Given the description of an element on the screen output the (x, y) to click on. 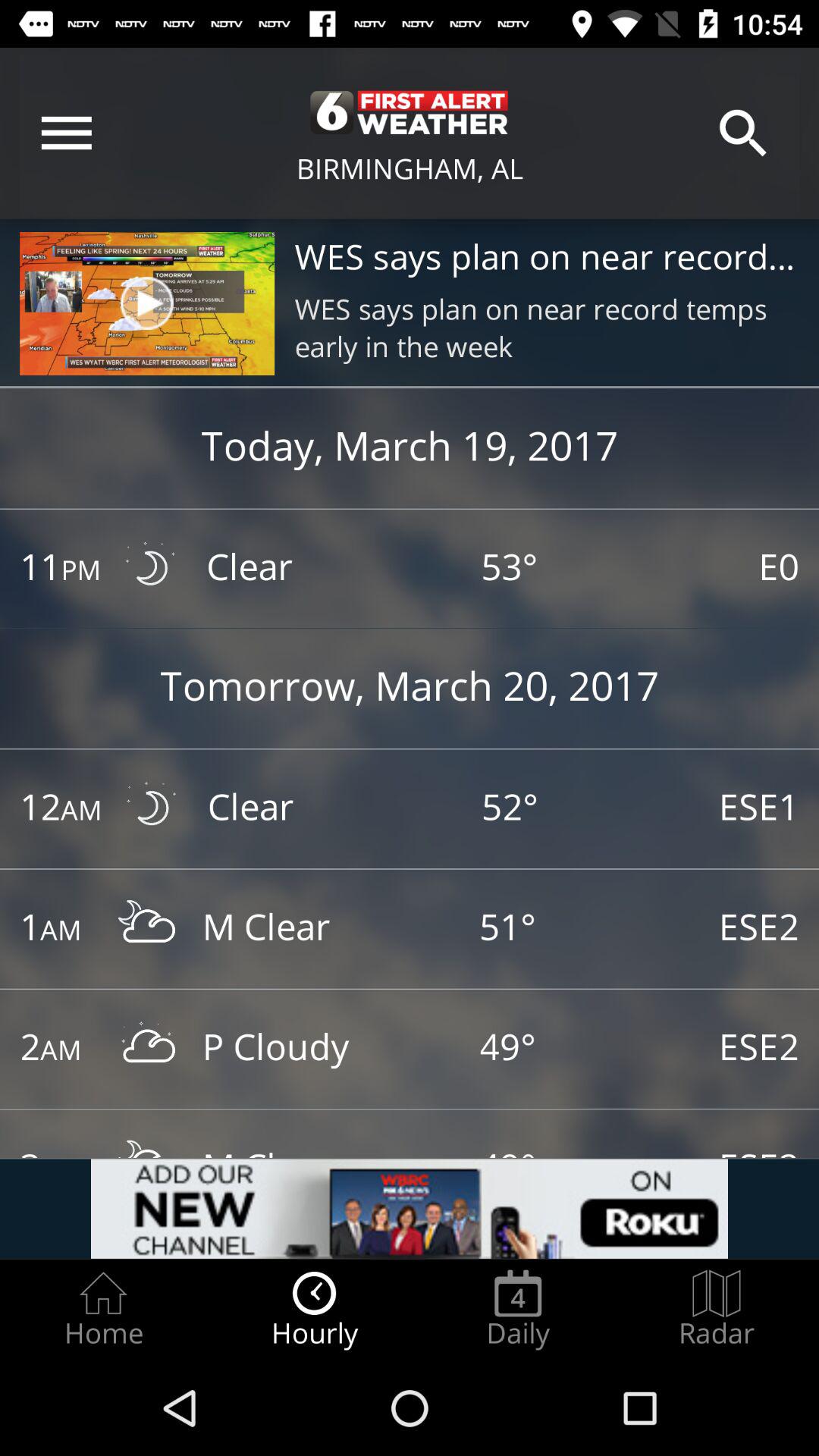
open the radio button next to hourly (518, 1309)
